Given the description of an element on the screen output the (x, y) to click on. 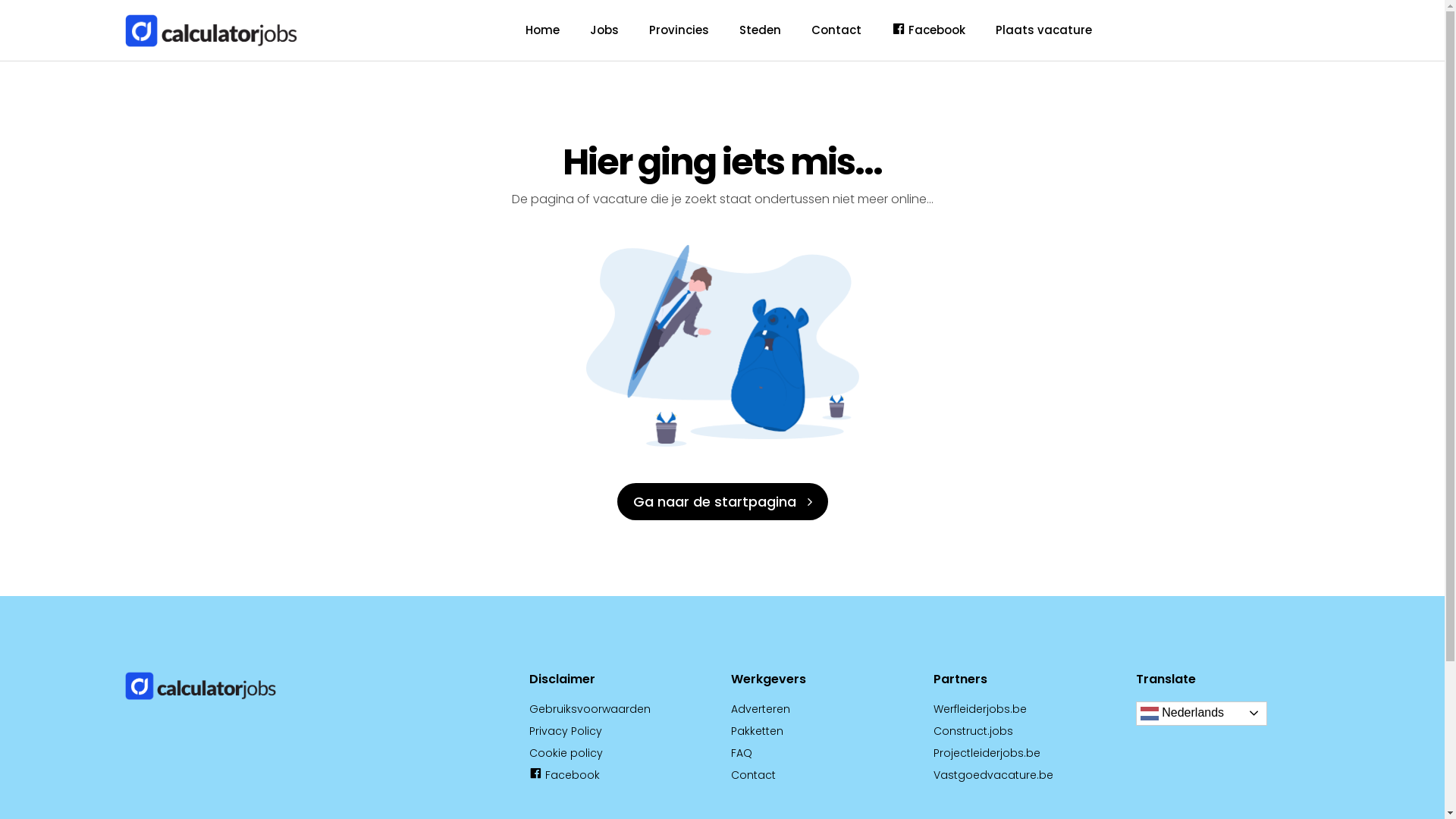
Facebook Element type: text (564, 774)
Contact Element type: text (753, 774)
Privacy Policy Element type: text (565, 730)
Gebruiksvoorwaarden Element type: text (589, 708)
Ga naar de startpagina Element type: text (722, 501)
Vastgoedvacature.be Element type: text (993, 774)
Pakketten Element type: text (757, 730)
Adverteren Element type: text (760, 708)
Jobs Element type: text (603, 29)
Werfleiderjobs.be Element type: text (979, 708)
Cookie policy Element type: text (565, 752)
Projectleiderjobs.be Element type: text (986, 752)
Home Element type: text (542, 29)
Nederlands Element type: text (1201, 713)
Facebook Element type: text (928, 29)
FAQ Element type: text (741, 752)
Steden Element type: text (760, 29)
Plaats vacature Element type: text (1043, 29)
Construct.jobs Element type: text (973, 730)
Provincies Element type: text (678, 29)
Contact Element type: text (836, 29)
